Given the description of an element on the screen output the (x, y) to click on. 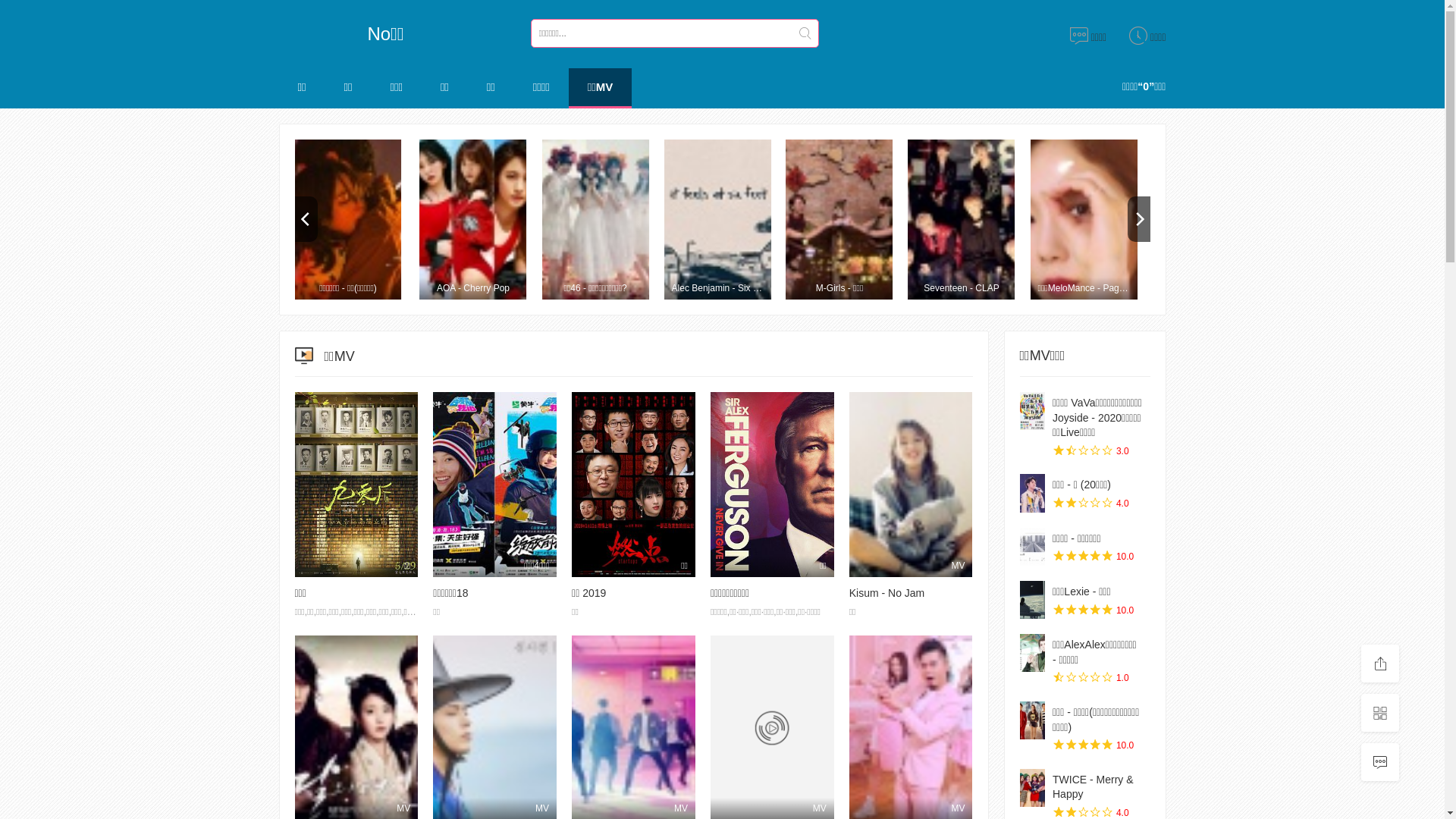
Kisum - No Jam Element type: text (887, 592)
TWICE - Merry & Happy Element type: text (1092, 786)
Seventeen - CLAP Element type: text (960, 219)
TWICE - Merry & Happy Element type: hover (1031, 787)
AOA - Cherry Pop Element type: text (473, 219)
Alec Benjamin - Six Feet Apart(Lyric Video) Element type: text (717, 219)
MV Element type: text (910, 484)
